Given the description of an element on the screen output the (x, y) to click on. 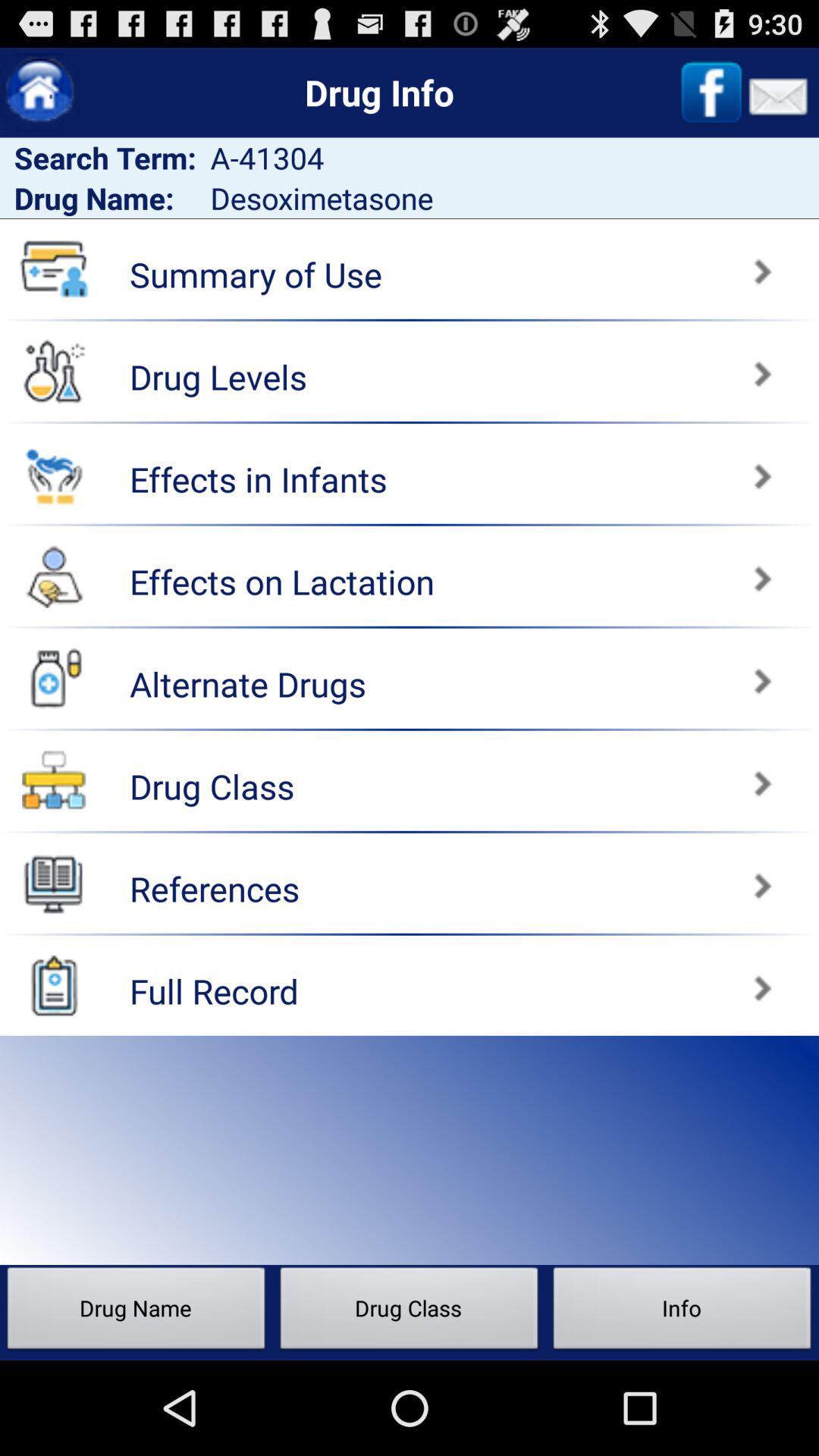
open full record (53, 985)
